Given the description of an element on the screen output the (x, y) to click on. 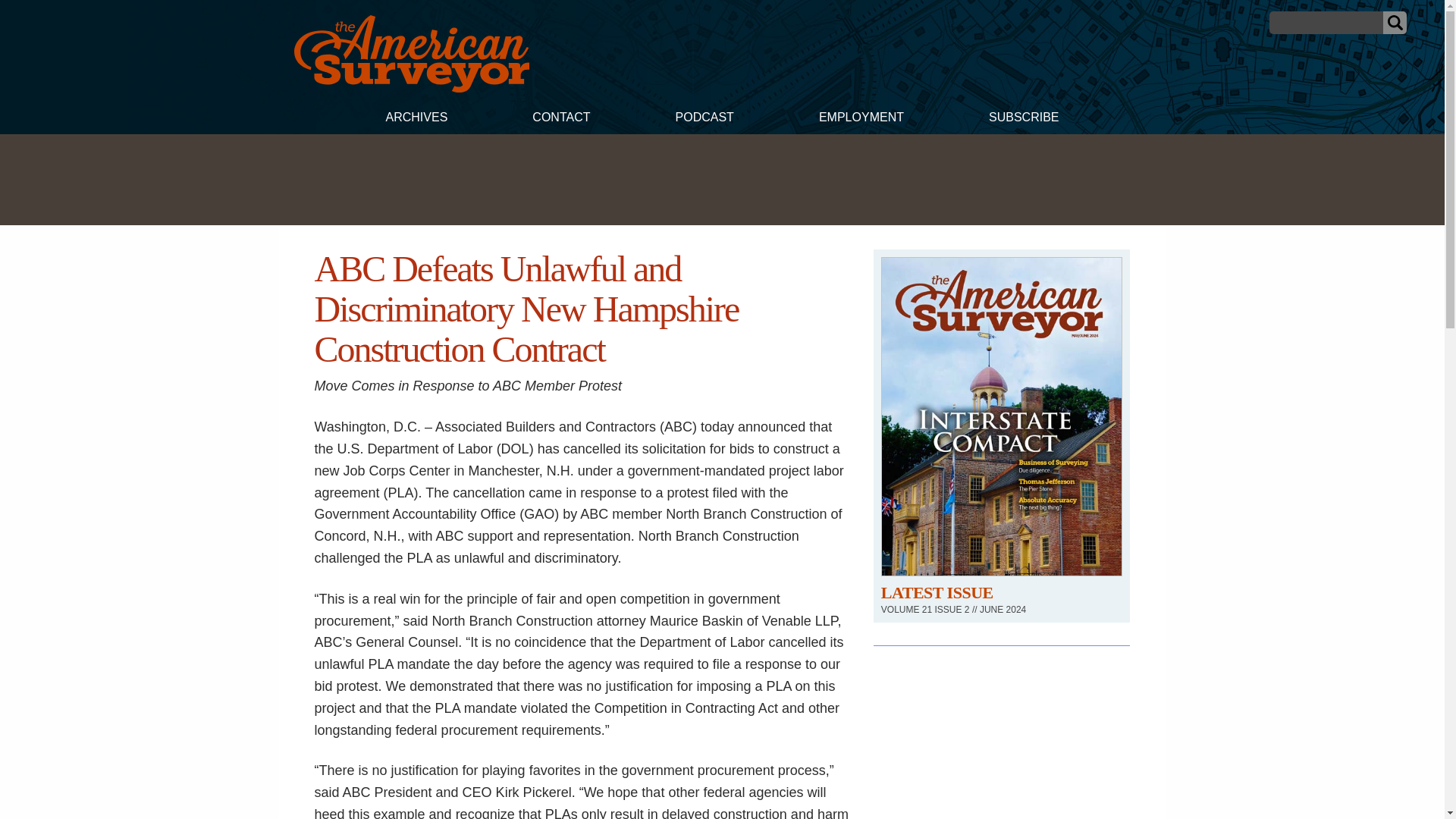
SUBSCRIBE (1024, 119)
The American Surveyor (411, 53)
The American Surveyor (411, 88)
EMPLOYMENT (861, 119)
Submit (1394, 22)
3rd party ad content (721, 179)
PODCAST (704, 119)
Submit (1394, 22)
CONTACT (560, 119)
Submit (1394, 22)
ARCHIVES (415, 119)
Search for: (1326, 22)
